Given the description of an element on the screen output the (x, y) to click on. 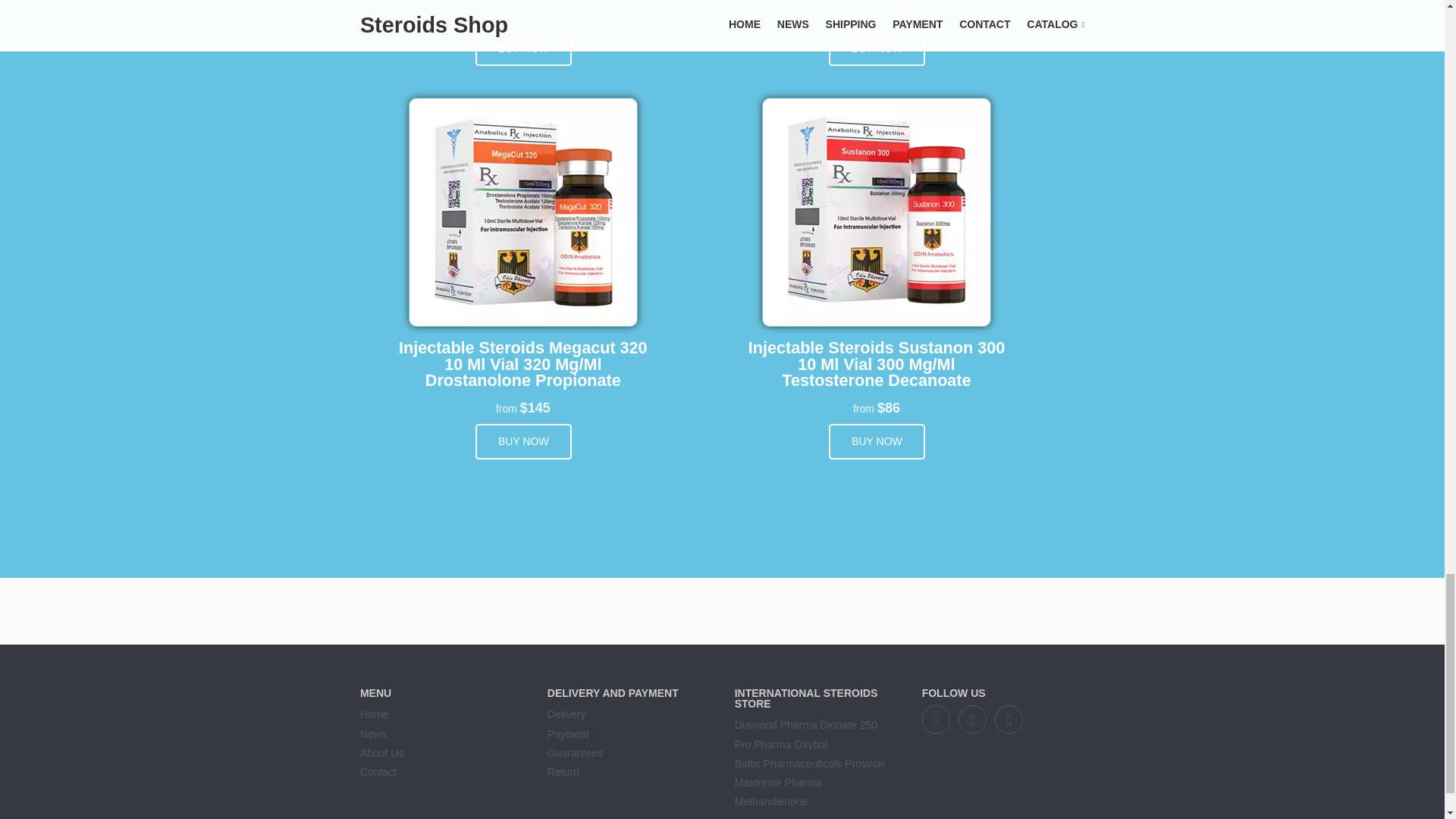
BUY NOW (524, 48)
BUY NOW (876, 441)
BUY NOW (876, 48)
BUY NOW (524, 441)
